Given the description of an element on the screen output the (x, y) to click on. 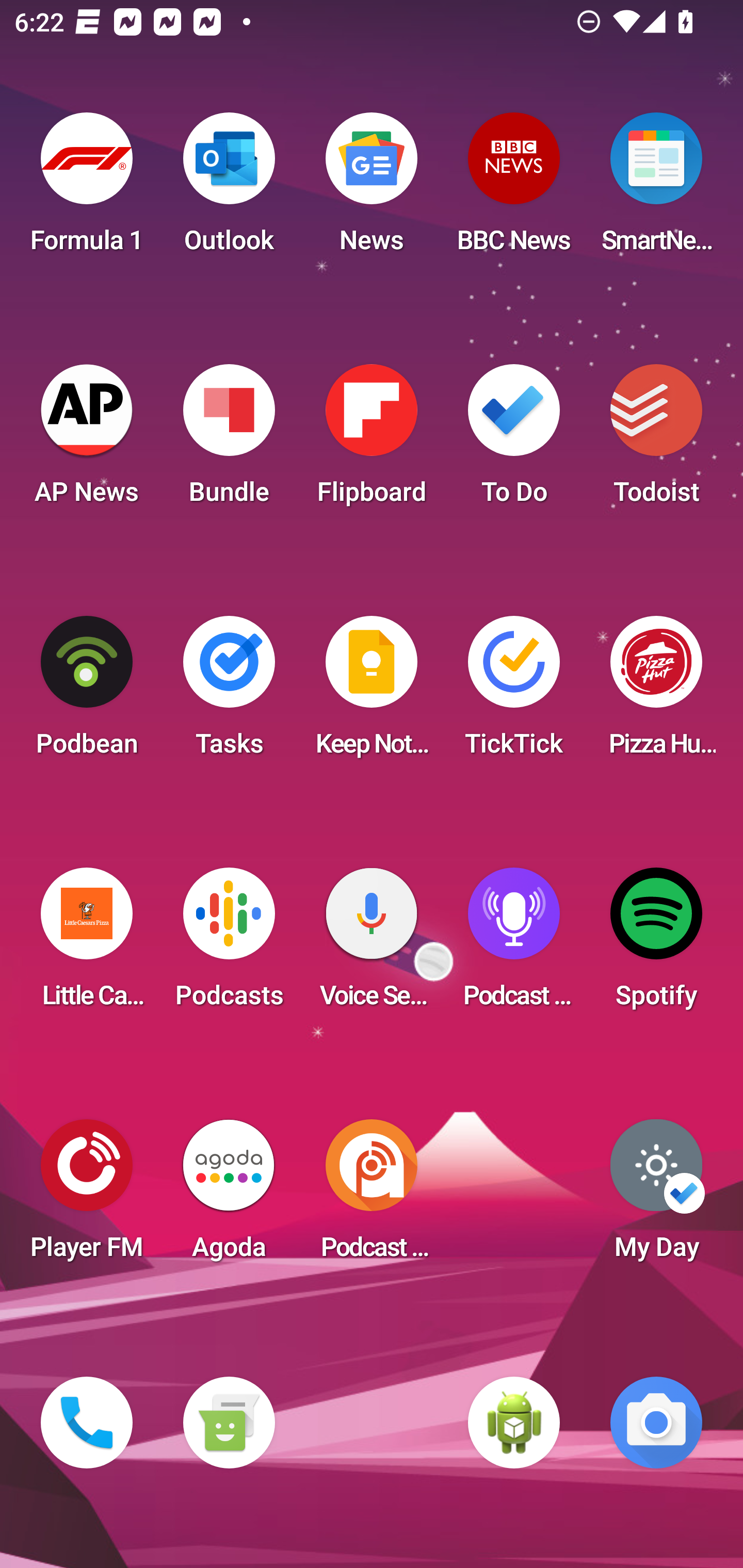
Formula 1 (86, 188)
Outlook (228, 188)
News (371, 188)
BBC News (513, 188)
SmartNews (656, 188)
AP News (86, 440)
Bundle (228, 440)
Flipboard (371, 440)
To Do (513, 440)
Todoist (656, 440)
Podbean (86, 692)
Tasks (228, 692)
Keep Notes (371, 692)
TickTick (513, 692)
Pizza Hut HK & Macau (656, 692)
Little Caesars Pizza (86, 943)
Podcasts (228, 943)
Voice Search (371, 943)
Podcast Player (513, 943)
Spotify (656, 943)
Player FM (86, 1195)
Agoda (228, 1195)
Podcast Addict (371, 1195)
My Day (656, 1195)
Phone (86, 1422)
Messaging (228, 1422)
WebView Browser Tester (513, 1422)
Camera (656, 1422)
